Given the description of an element on the screen output the (x, y) to click on. 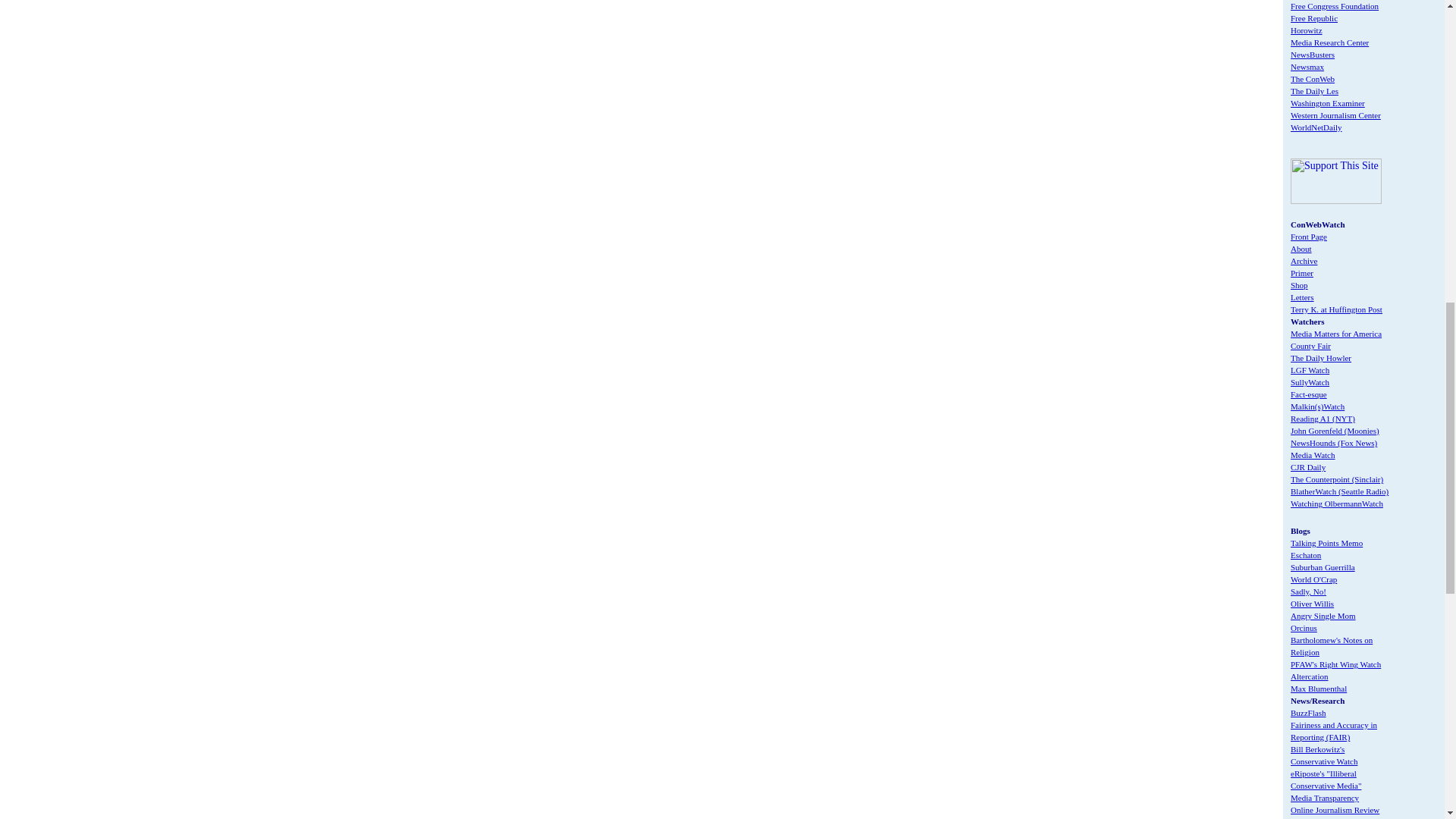
The ConWeb (1312, 78)
Horowitz (1306, 30)
Western Journalism Center (1335, 114)
Media Research Center (1329, 41)
Newsmax (1306, 66)
About (1300, 248)
Free Congress Foundation (1334, 5)
The Daily Les (1314, 90)
Washington Examiner (1327, 102)
NewsBusters (1312, 53)
